Given the description of an element on the screen output the (x, y) to click on. 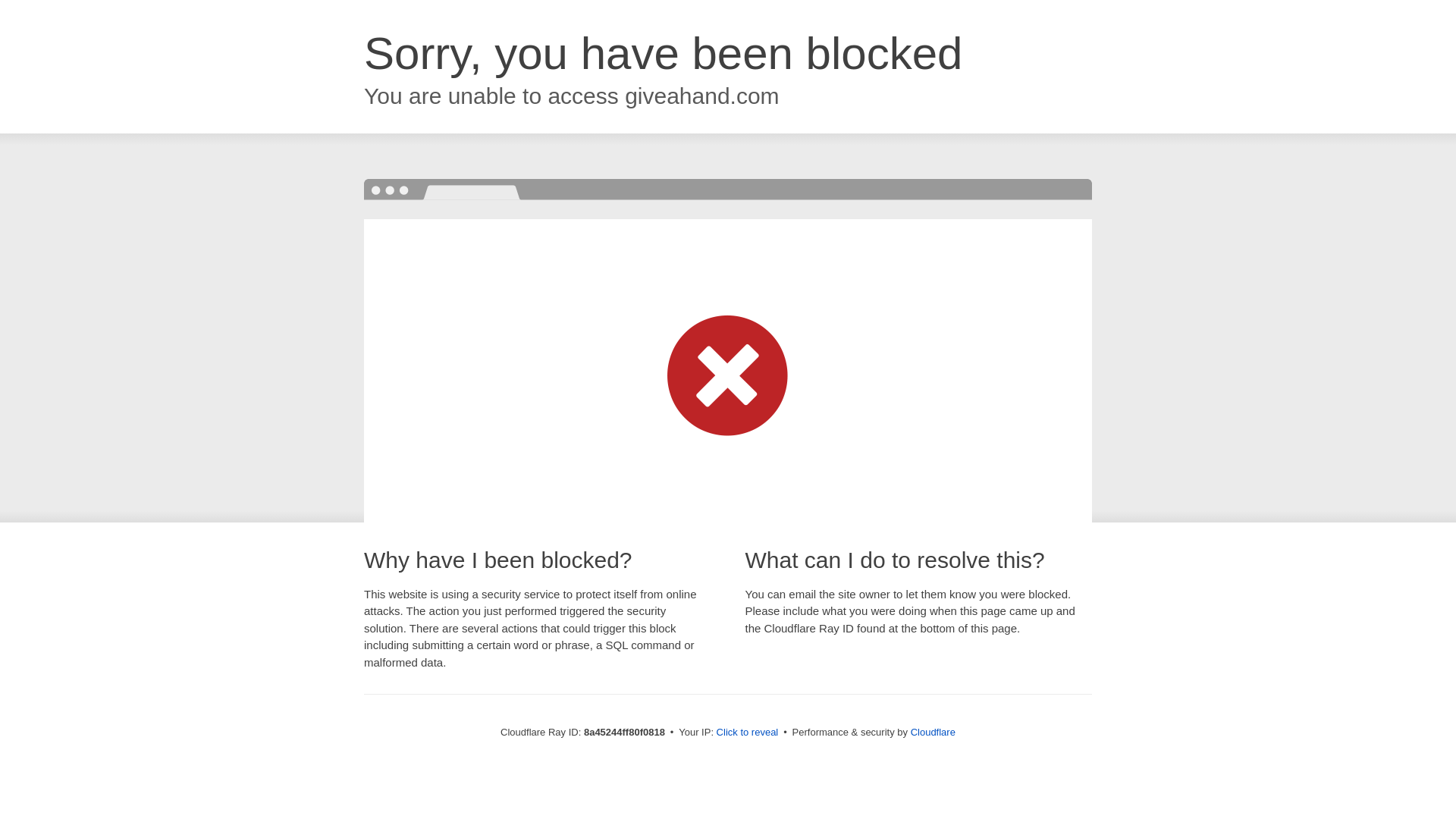
Click to reveal (747, 732)
Cloudflare (933, 731)
